Given the description of an element on the screen output the (x, y) to click on. 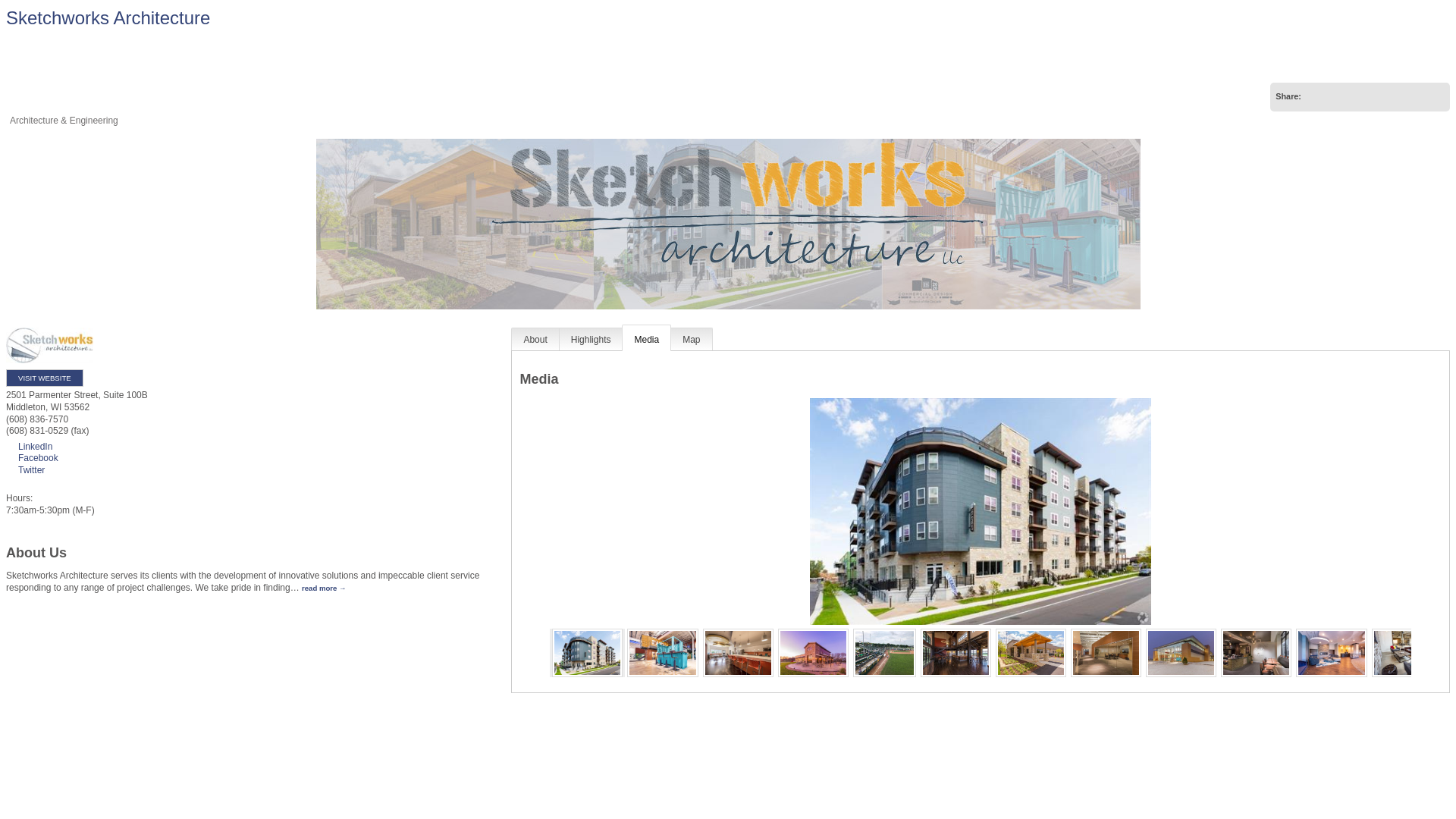
Visit the website of Sketchworks Architecture (43, 378)
Facebook (31, 457)
Share on Twitter (1387, 96)
Visit Sketchworks Architecture at Twitter (25, 470)
Multi-Family Housing near Lambeau Field. (980, 511)
Share by Email (1340, 96)
Multi-Family Housing near Lambeau Field. (587, 652)
Social break rooms for any project. (738, 652)
Visit Sketchworks Architecture at Facebook (31, 457)
